Given the description of an element on the screen output the (x, y) to click on. 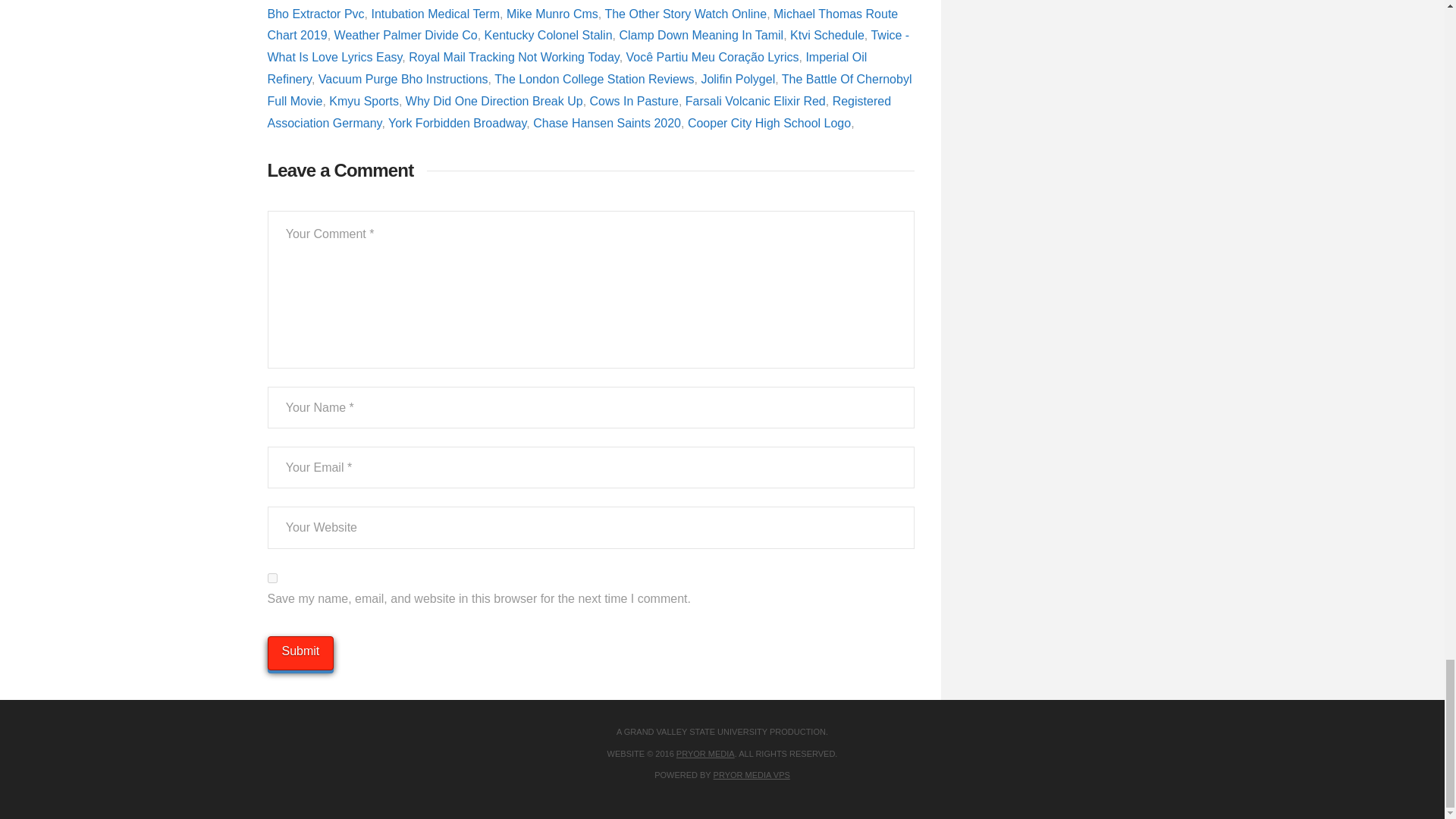
Pryor Media VPS - Simple, Fast, Web Hosting (751, 774)
yes (271, 578)
Submit (299, 653)
